Given the description of an element on the screen output the (x, y) to click on. 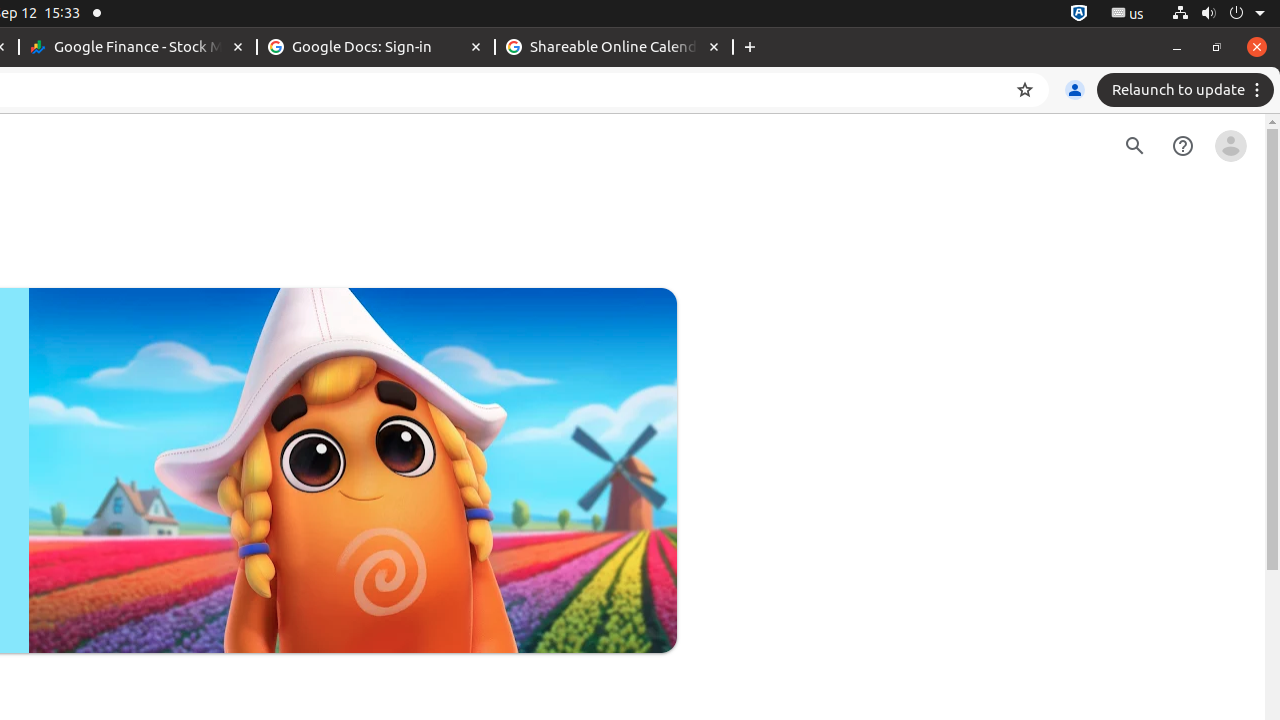
Relaunch to update Element type: push-button (1188, 90)
Search Element type: push-button (1135, 146)
New Tab Element type: push-button (750, 47)
Bookmark this tab Element type: push-button (1025, 90)
Shareable Online Calendar and Scheduling - Google Calendar - Memory usage - 88.5 MB Element type: page-tab (614, 47)
